Given the description of an element on the screen output the (x, y) to click on. 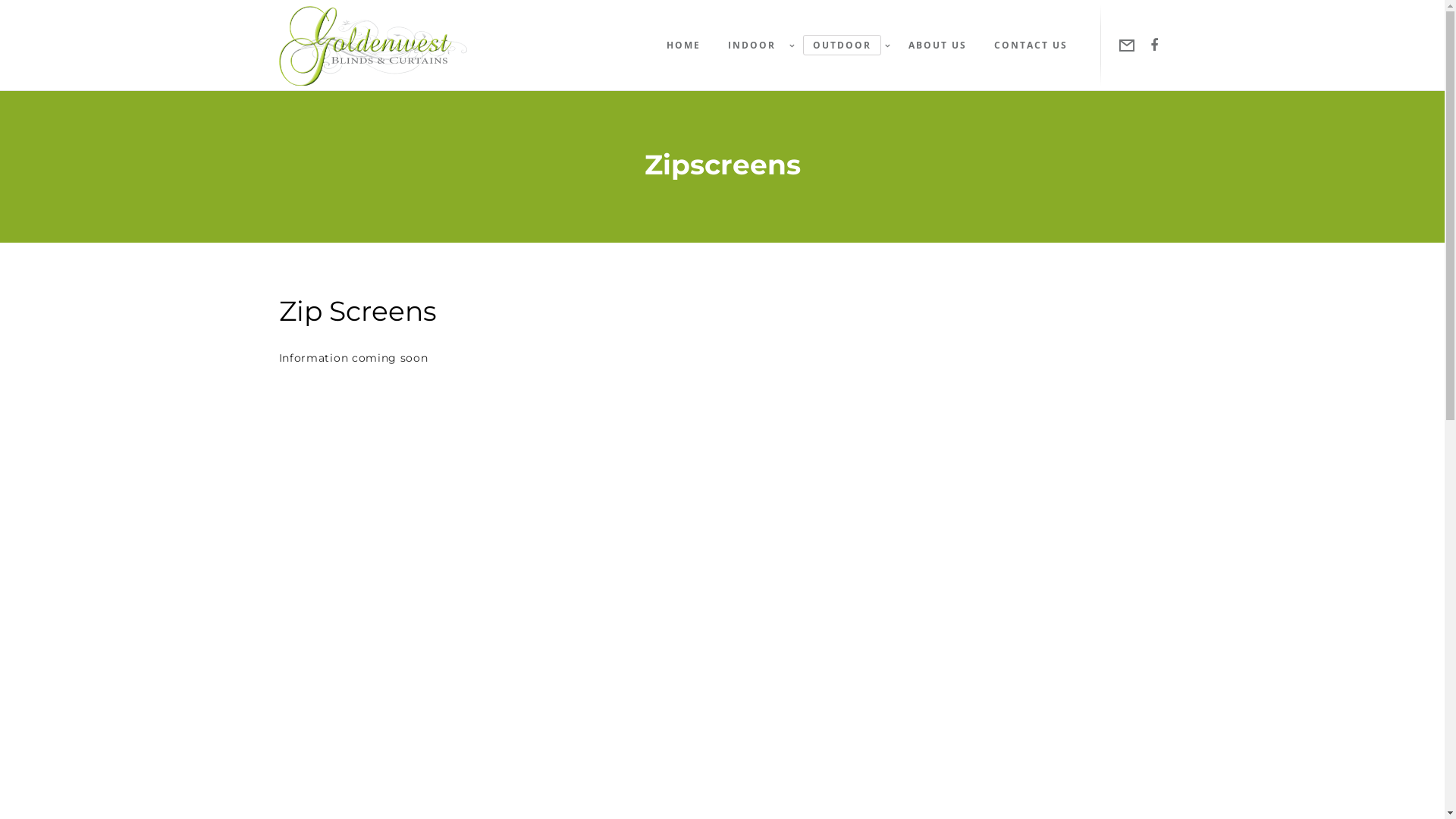
CONTACT US Element type: text (1026, 45)
OUTDOOR Element type: text (843, 45)
HOME Element type: text (679, 45)
ABOUT US Element type: text (933, 45)
INDOOR Element type: text (752, 45)
